Given the description of an element on the screen output the (x, y) to click on. 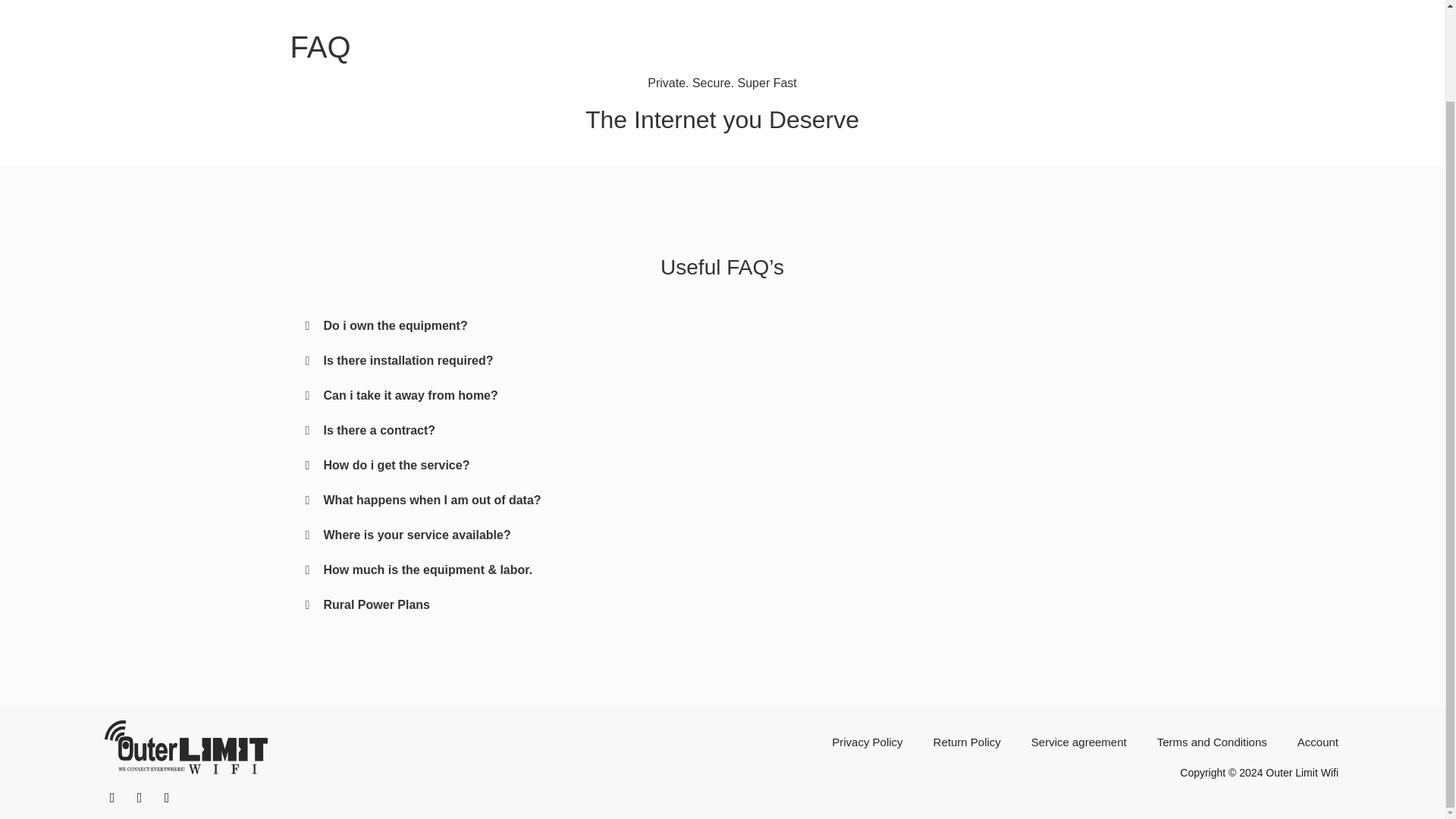
Terms and Conditions (1211, 742)
Service agreement (1078, 742)
Where is your service available? (417, 534)
Rural Power Plans (376, 604)
How do i get the service? (395, 464)
Return Policy (967, 742)
Can i take it away from home? (410, 395)
What happens when I am out of data? (431, 499)
Privacy Policy (866, 742)
Do i own the equipment? (395, 325)
